Given the description of an element on the screen output the (x, y) to click on. 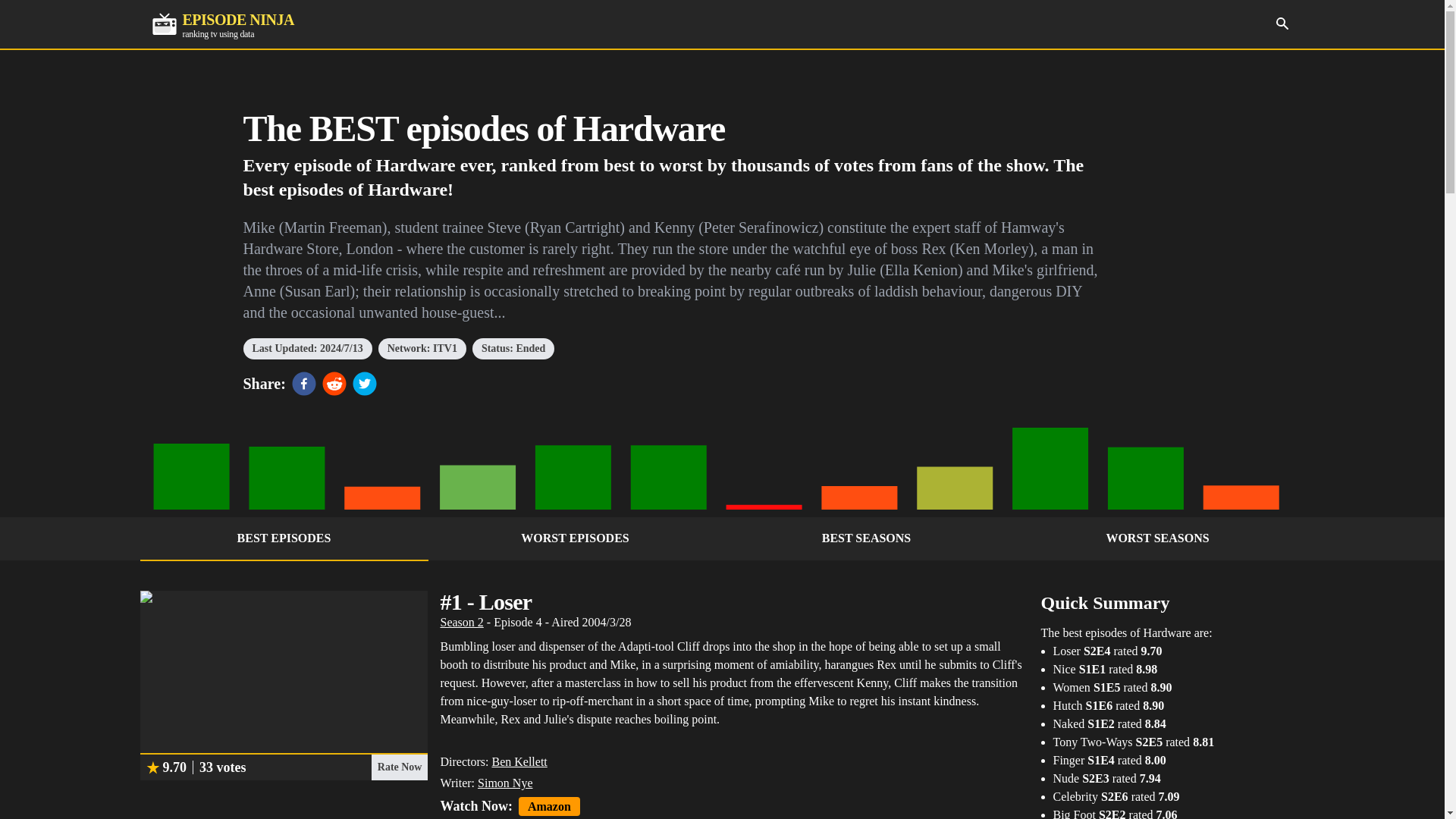
Network: ITV1 (421, 348)
Search (1281, 22)
BEST SEASONS (866, 537)
Rate Now (399, 767)
Season 2 (461, 621)
BEST EPISODES (283, 538)
Amazon (548, 805)
WORST EPISODES (574, 537)
WORST SEASONS (1157, 537)
Simon Nye (222, 24)
Ben Kellett (504, 782)
